Given the description of an element on the screen output the (x, y) to click on. 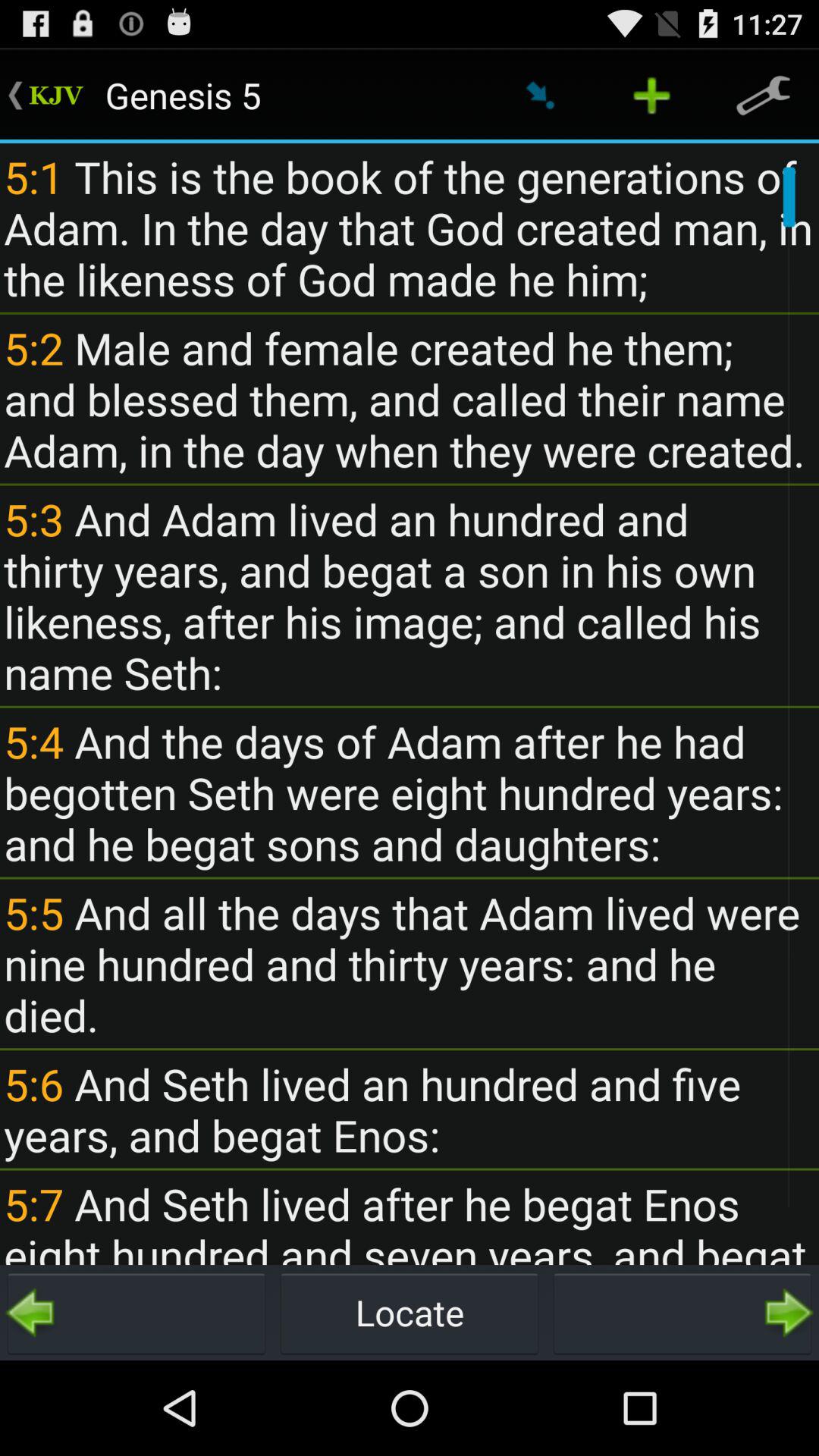
turn on button next to locate icon (682, 1312)
